Given the description of an element on the screen output the (x, y) to click on. 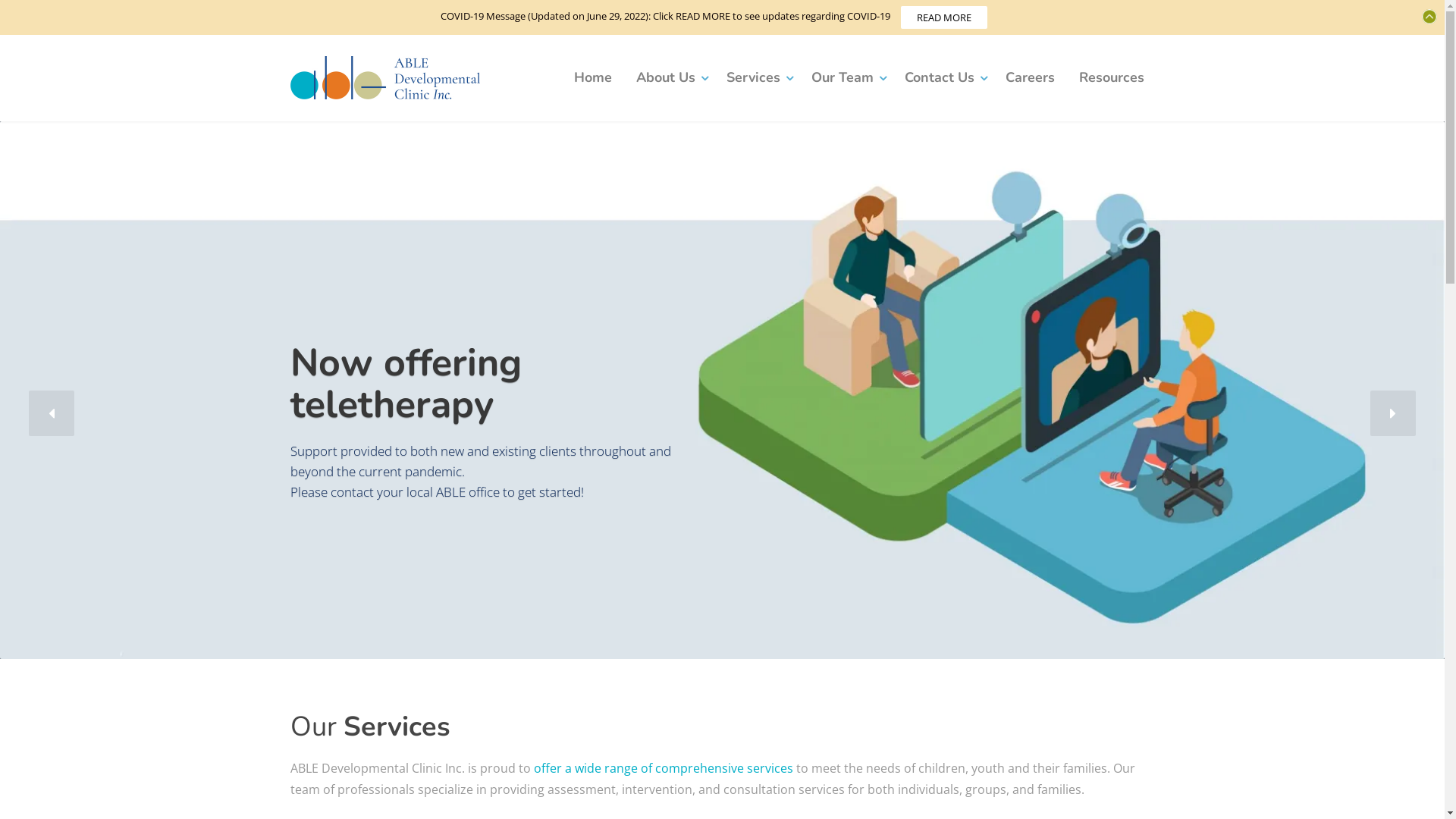
Home Element type: text (591, 77)
Contact Us Element type: text (942, 77)
Resources Element type: text (1110, 77)
Services Element type: text (756, 77)
ABLE Developmental Clinic Inc. Element type: hover (384, 77)
READ MORE Element type: text (943, 17)
Careers Element type: text (1029, 77)
About Us Element type: text (668, 77)
Our Team Element type: text (845, 77)
